Given the description of an element on the screen output the (x, y) to click on. 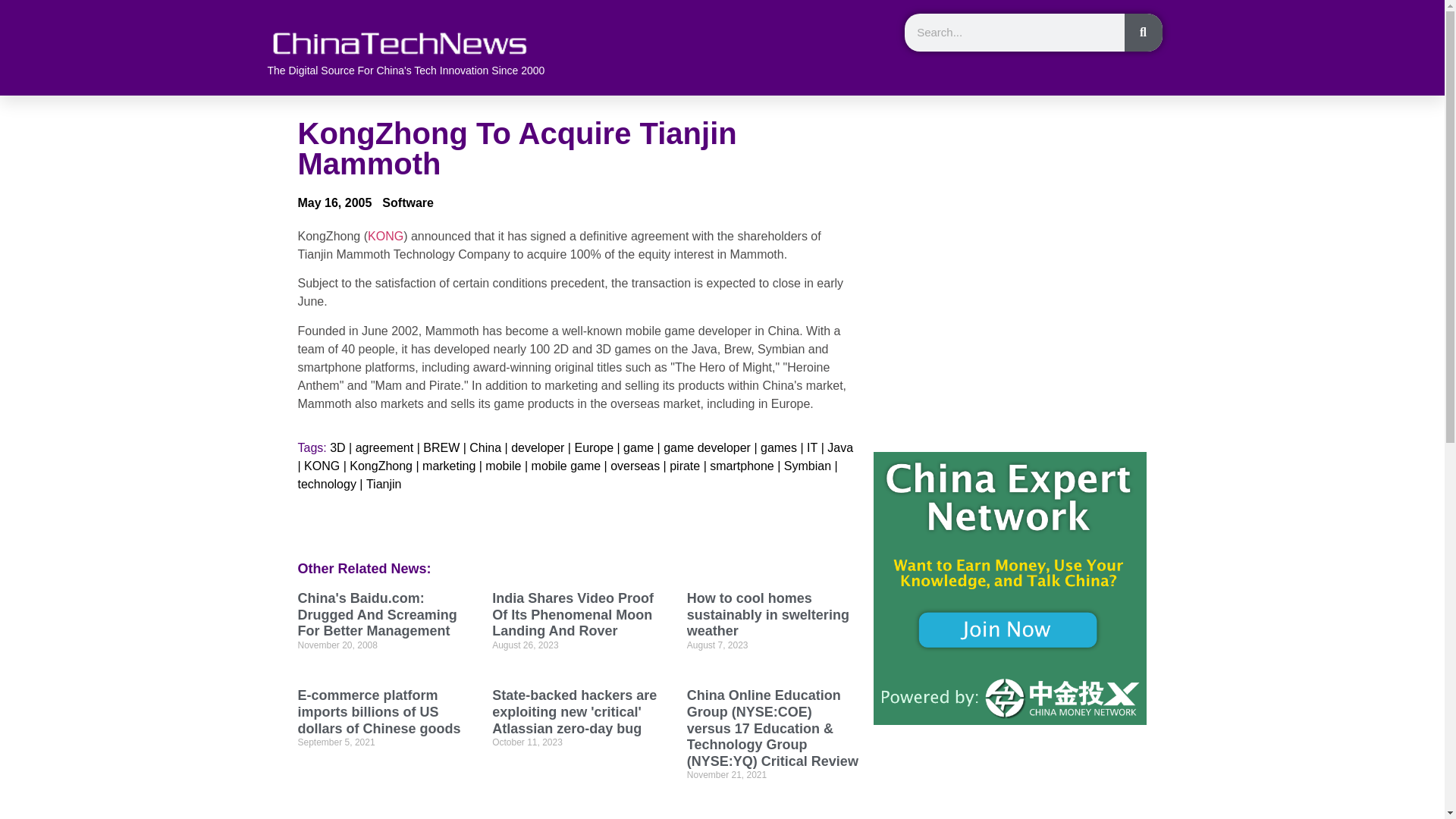
overseas (634, 466)
game (638, 447)
Software (407, 203)
marketing (449, 466)
games (778, 447)
Symbian (807, 466)
agreement (384, 447)
Advertisement (1010, 223)
